Given the description of an element on the screen output the (x, y) to click on. 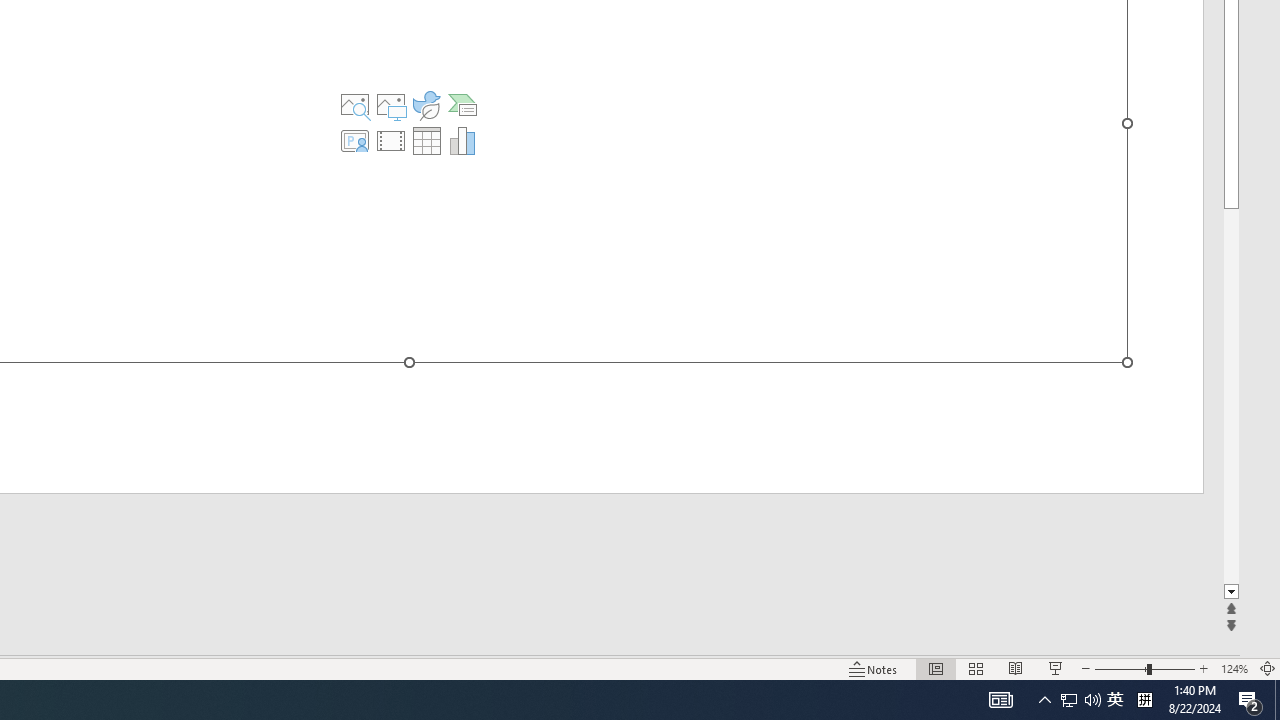
Zoom 124% (1234, 668)
